Given the description of an element on the screen output the (x, y) to click on. 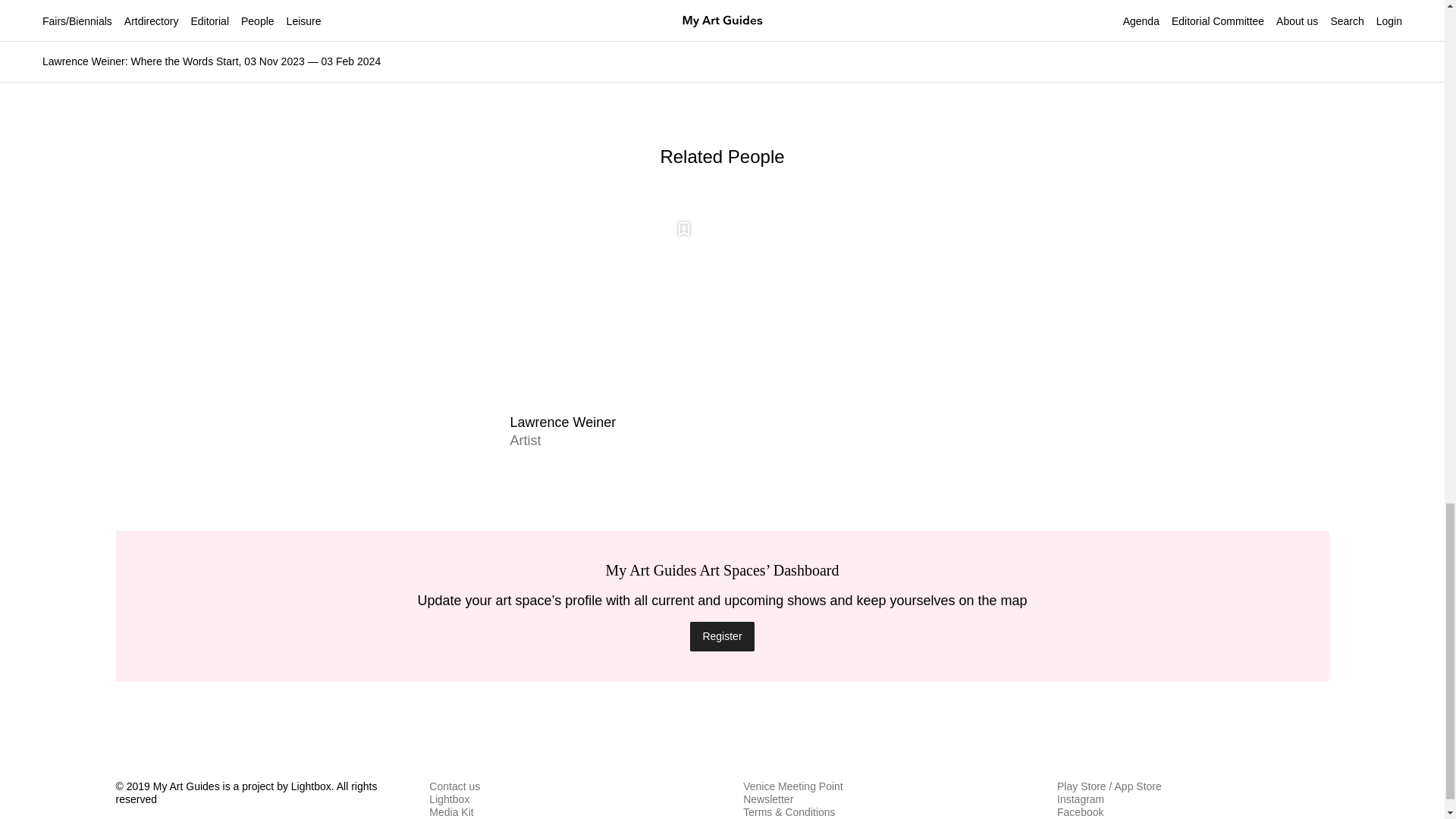
Register (722, 636)
Lightbox (448, 799)
Facebook (1080, 811)
Venice Meeting Point (792, 786)
Play Store (1081, 786)
Newsletter (767, 799)
Contact us (454, 786)
App Store (1138, 786)
Instagram (1080, 799)
Media Kit (451, 811)
